Given the description of an element on the screen output the (x, y) to click on. 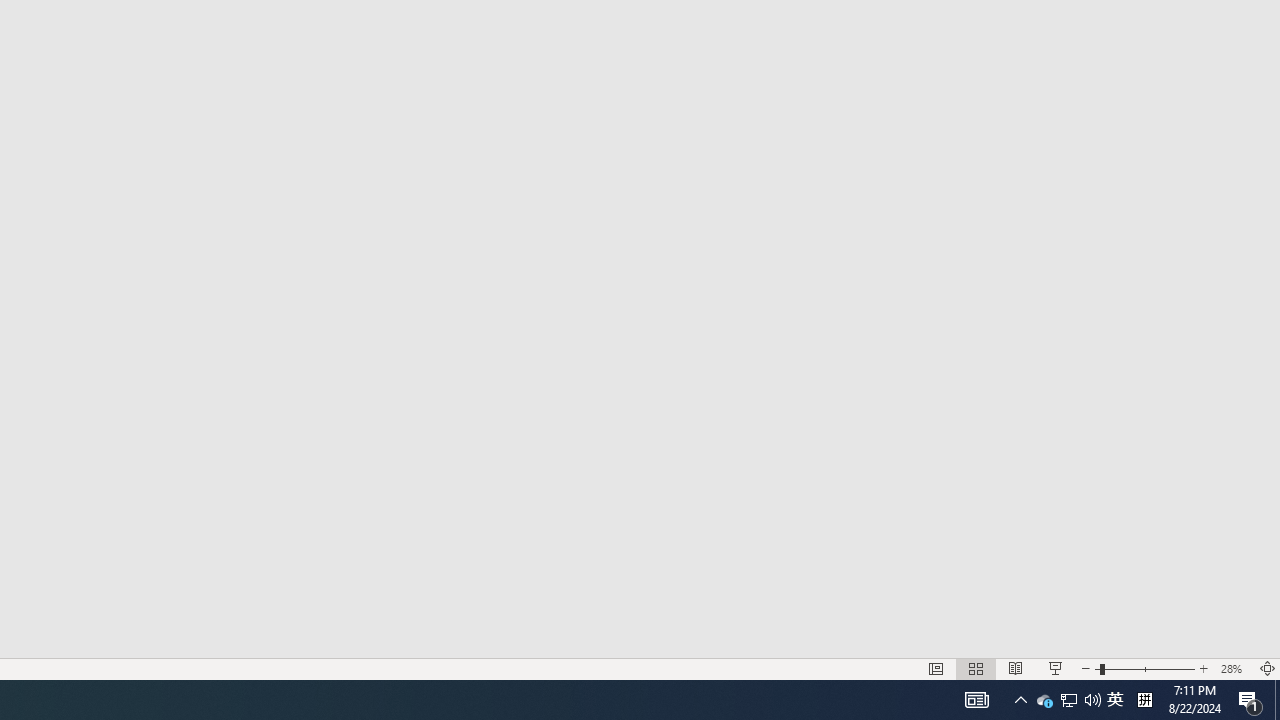
Zoom 28% (1234, 668)
